Given the description of an element on the screen output the (x, y) to click on. 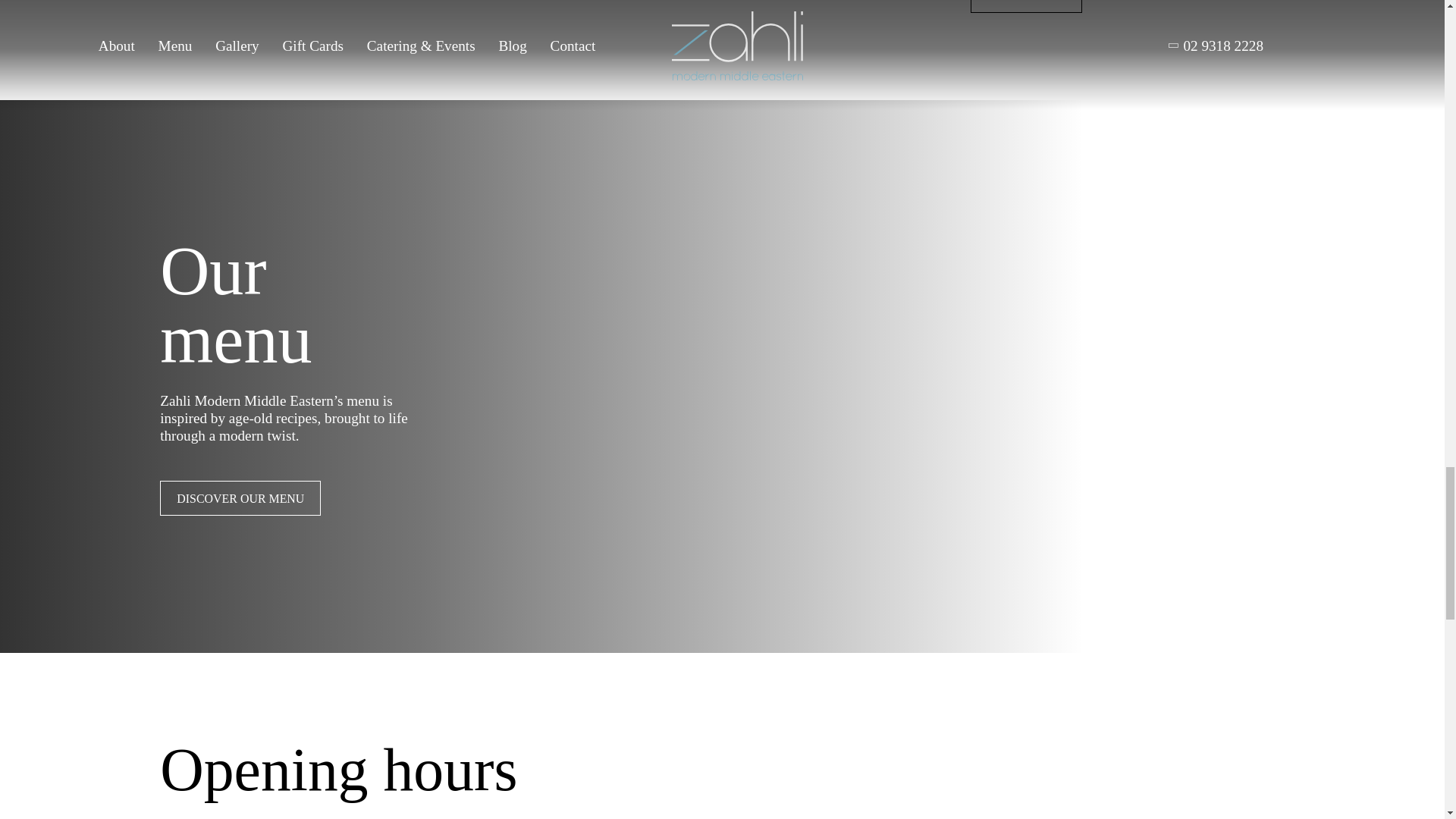
DISCOVER OUR MENU (240, 498)
LEARN MORE (1026, 0)
